Given the description of an element on the screen output the (x, y) to click on. 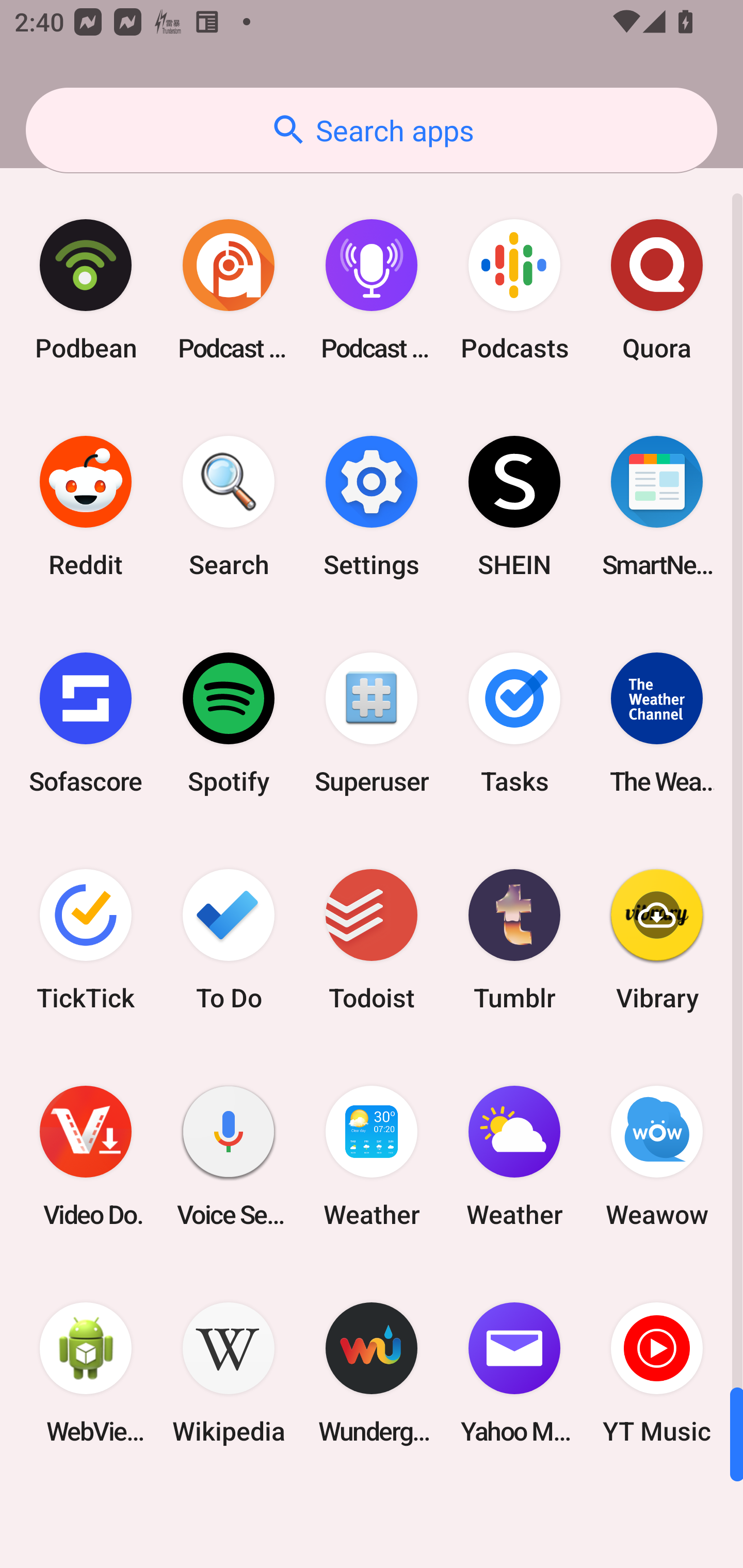
  Search apps (371, 130)
Podbean (85, 289)
Podcast Addict (228, 289)
Podcast Player (371, 289)
Podcasts (514, 289)
Quora (656, 289)
Reddit (85, 506)
Search (228, 506)
Settings (371, 506)
SHEIN (514, 506)
SmartNews (656, 506)
Sofascore (85, 722)
Spotify (228, 722)
Superuser (371, 722)
Tasks (514, 722)
The Weather Channel (656, 722)
TickTick (85, 939)
To Do (228, 939)
Todoist (371, 939)
Tumblr (514, 939)
Vibrary (656, 939)
Video Downloader & Ace Player (85, 1156)
Voice Search (228, 1156)
Weather (371, 1156)
Weather (514, 1156)
Weawow (656, 1156)
WebView Browser Tester (85, 1373)
Wikipedia (228, 1373)
Wunderground (371, 1373)
Yahoo Mail (514, 1373)
YT Music (656, 1373)
